Given the description of an element on the screen output the (x, y) to click on. 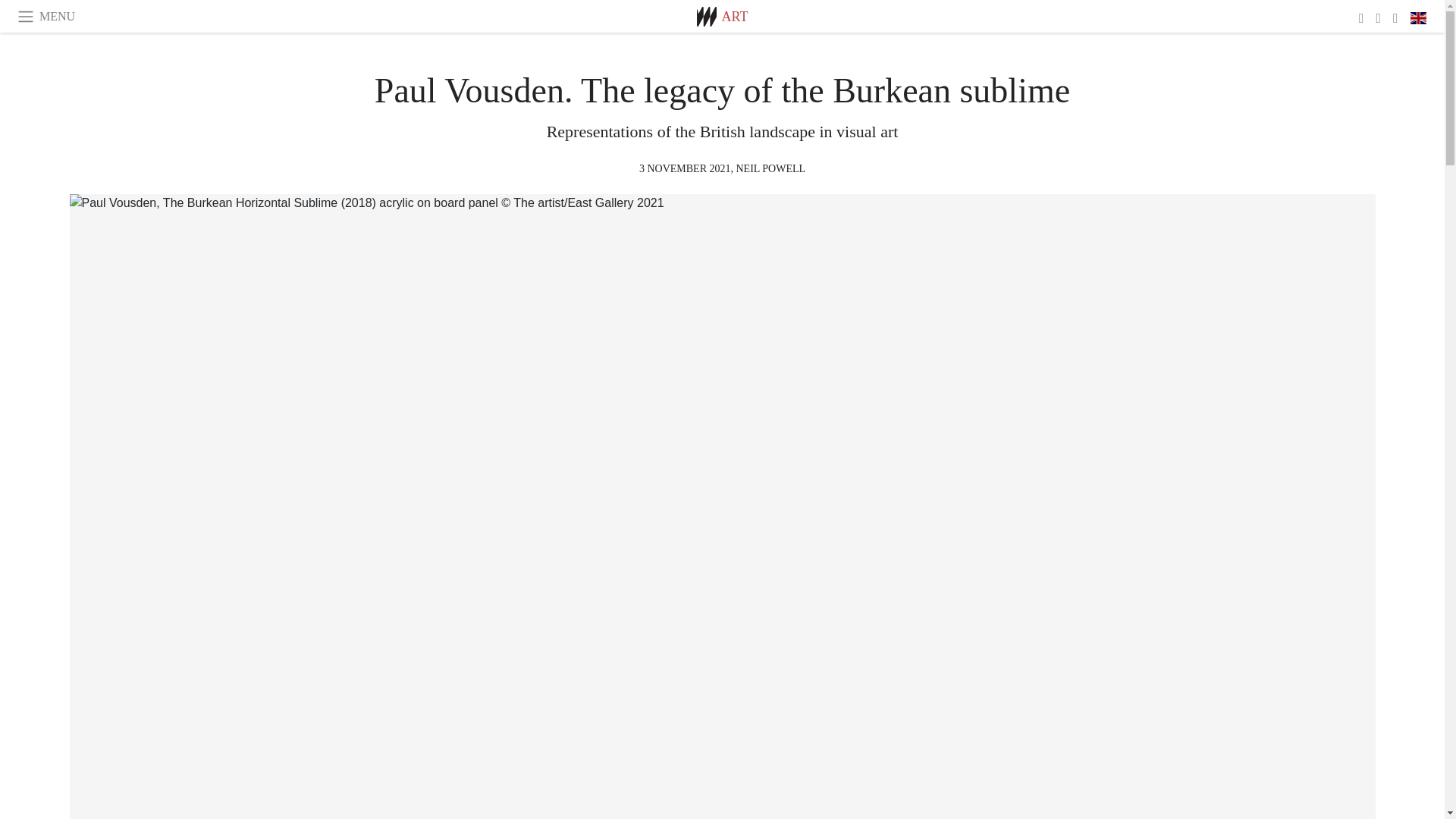
ART (735, 16)
